Given the description of an element on the screen output the (x, y) to click on. 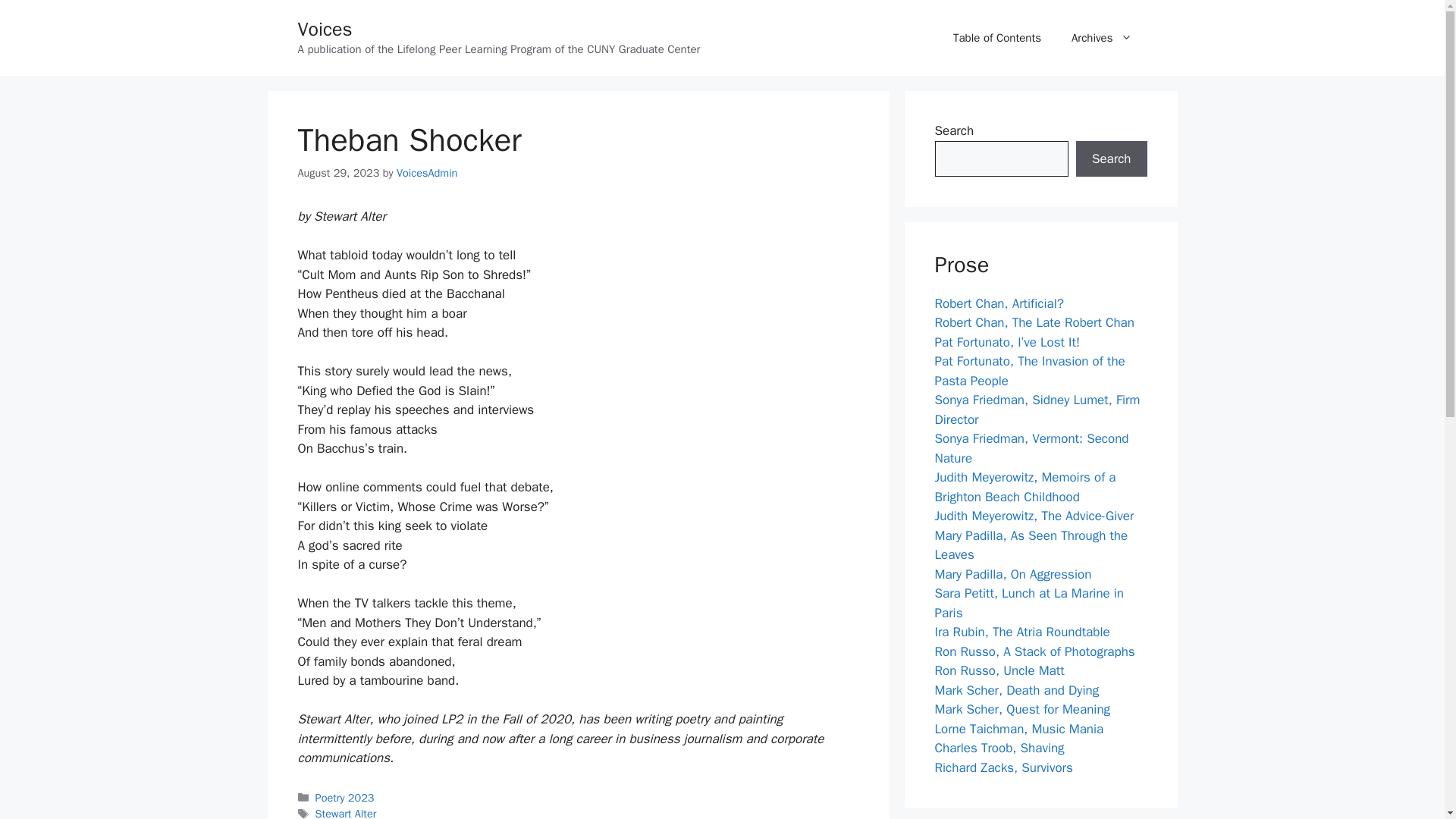
Stewart Alter (346, 812)
Ira Rubin, The Atria Roundtable (1021, 631)
Poetry 2023 (344, 797)
Mark Scher, Quest for Meaning (1021, 709)
View all posts by VoicesAdmin (426, 172)
Vermont: Second Nature (1031, 448)
Robert Chan, Artificial? (998, 303)
Mark Scher, Death and Dying (1016, 690)
The Advice-Giver (1034, 515)
Judith Meyerowitz, The Advice-Giver (1034, 515)
